Given the description of an element on the screen output the (x, y) to click on. 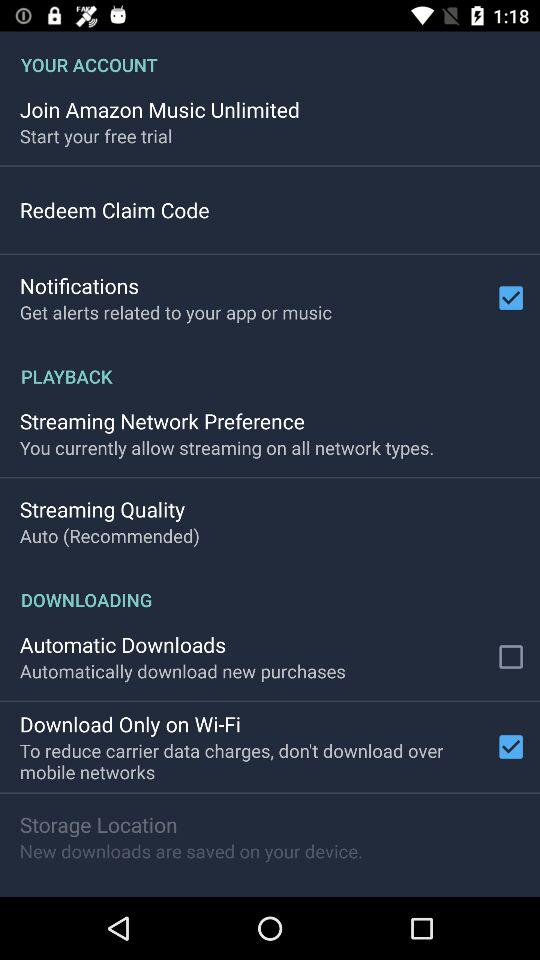
open item above the notifications (114, 209)
